Given the description of an element on the screen output the (x, y) to click on. 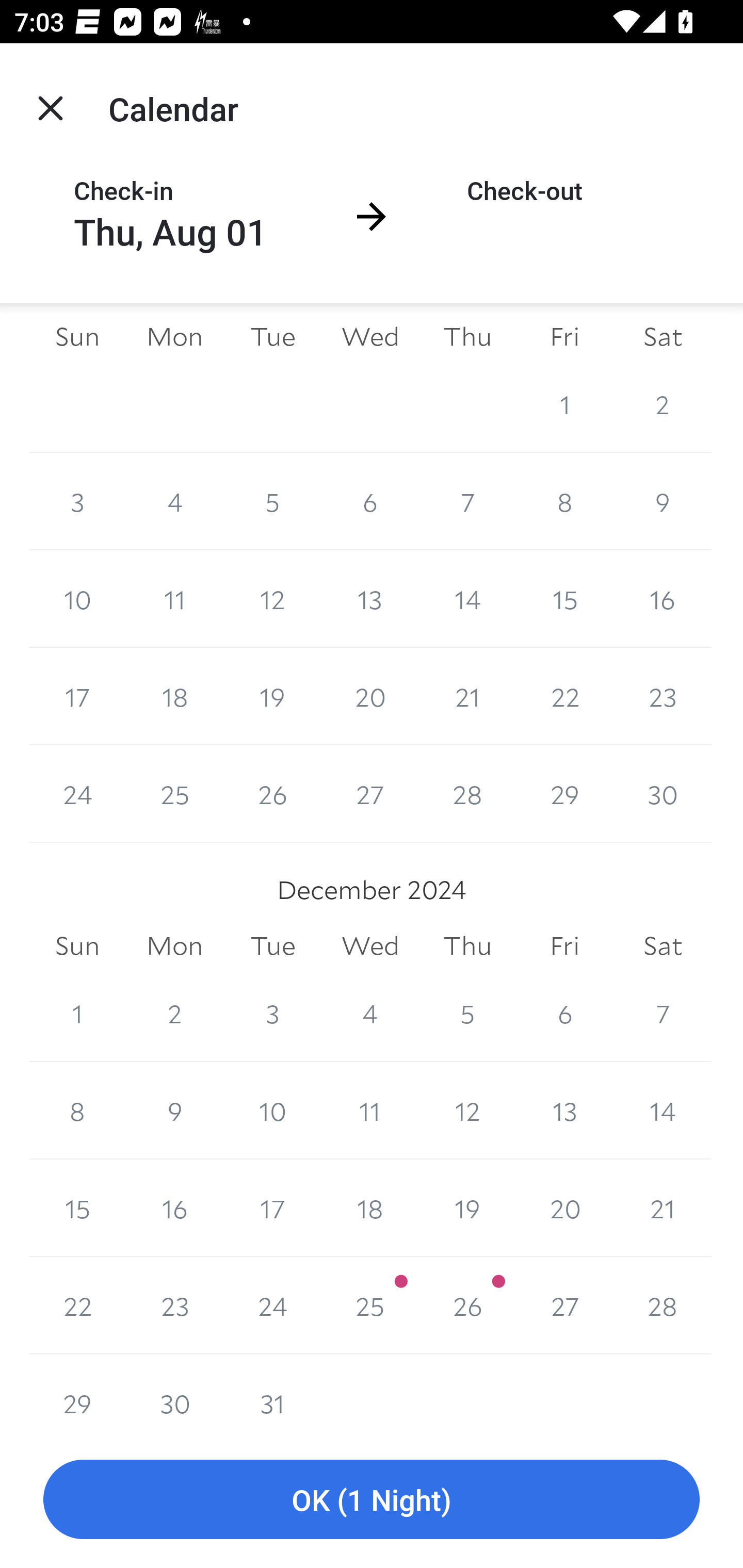
Sun (77, 336)
Mon (174, 336)
Tue (272, 336)
Wed (370, 336)
Thu (467, 336)
Fri (564, 336)
Sat (662, 336)
1 1 November 2024 (564, 404)
2 2 November 2024 (662, 404)
3 3 November 2024 (77, 501)
4 4 November 2024 (174, 501)
5 5 November 2024 (272, 501)
6 6 November 2024 (370, 501)
7 7 November 2024 (467, 501)
8 8 November 2024 (564, 501)
9 9 November 2024 (662, 501)
10 10 November 2024 (77, 598)
11 11 November 2024 (174, 598)
12 12 November 2024 (272, 598)
13 13 November 2024 (370, 598)
14 14 November 2024 (467, 598)
15 15 November 2024 (564, 598)
16 16 November 2024 (662, 598)
17 17 November 2024 (77, 695)
18 18 November 2024 (174, 695)
19 19 November 2024 (272, 695)
20 20 November 2024 (370, 695)
21 21 November 2024 (467, 695)
22 22 November 2024 (564, 695)
23 23 November 2024 (662, 695)
24 24 November 2024 (77, 793)
25 25 November 2024 (174, 793)
26 26 November 2024 (272, 793)
27 27 November 2024 (370, 793)
28 28 November 2024 (467, 793)
29 29 November 2024 (564, 793)
30 30 November 2024 (662, 793)
Sun (77, 945)
Mon (174, 945)
Tue (272, 945)
Wed (370, 945)
Thu (467, 945)
Fri (564, 945)
Sat (662, 945)
1 1 December 2024 (77, 1012)
2 2 December 2024 (174, 1012)
3 3 December 2024 (272, 1012)
4 4 December 2024 (370, 1012)
5 5 December 2024 (467, 1012)
